Given the description of an element on the screen output the (x, y) to click on. 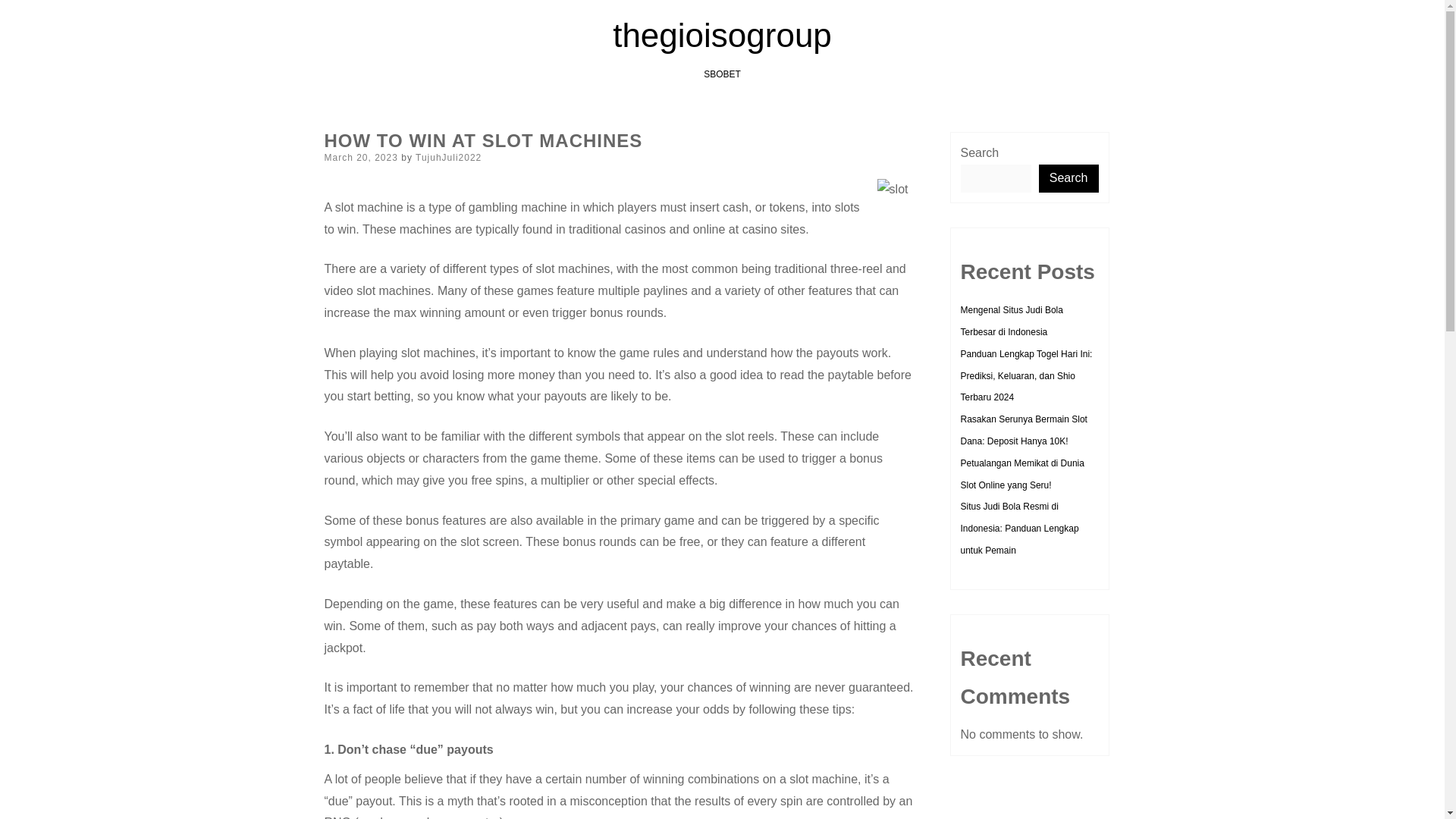
March 20, 2023 (360, 157)
Search (1069, 178)
TujuhJuli2022 (447, 157)
SBOBET (722, 73)
Mengenal Situs Judi Bola Terbesar di Indonesia (1010, 320)
Petualangan Memikat di Dunia Slot Online yang Seru! (1021, 473)
Rasakan Serunya Bermain Slot Dana: Deposit Hanya 10K! (1022, 430)
thegioisogroup (721, 35)
